Given the description of an element on the screen output the (x, y) to click on. 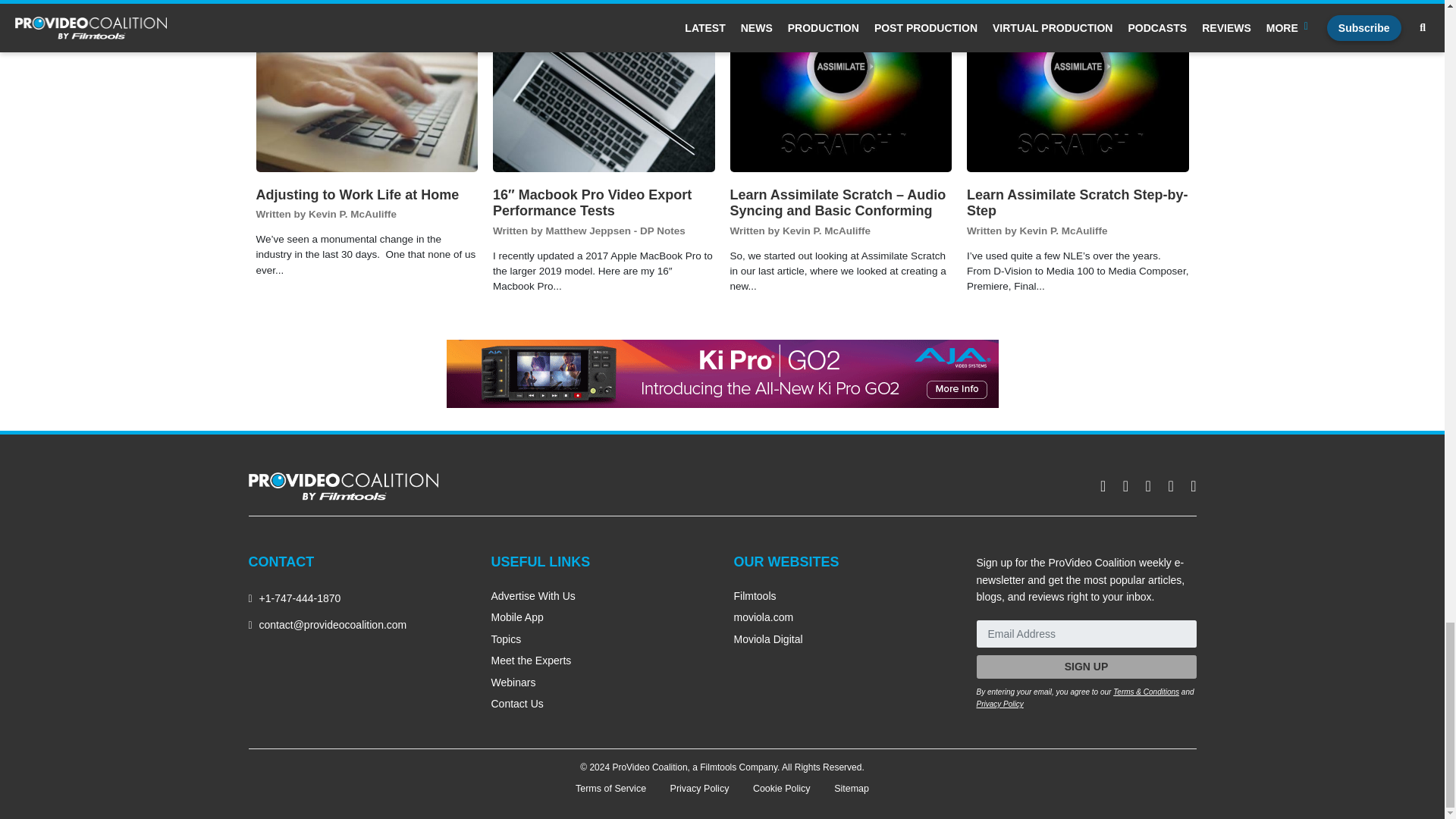
SIGN UP (1086, 666)
